Given the description of an element on the screen output the (x, y) to click on. 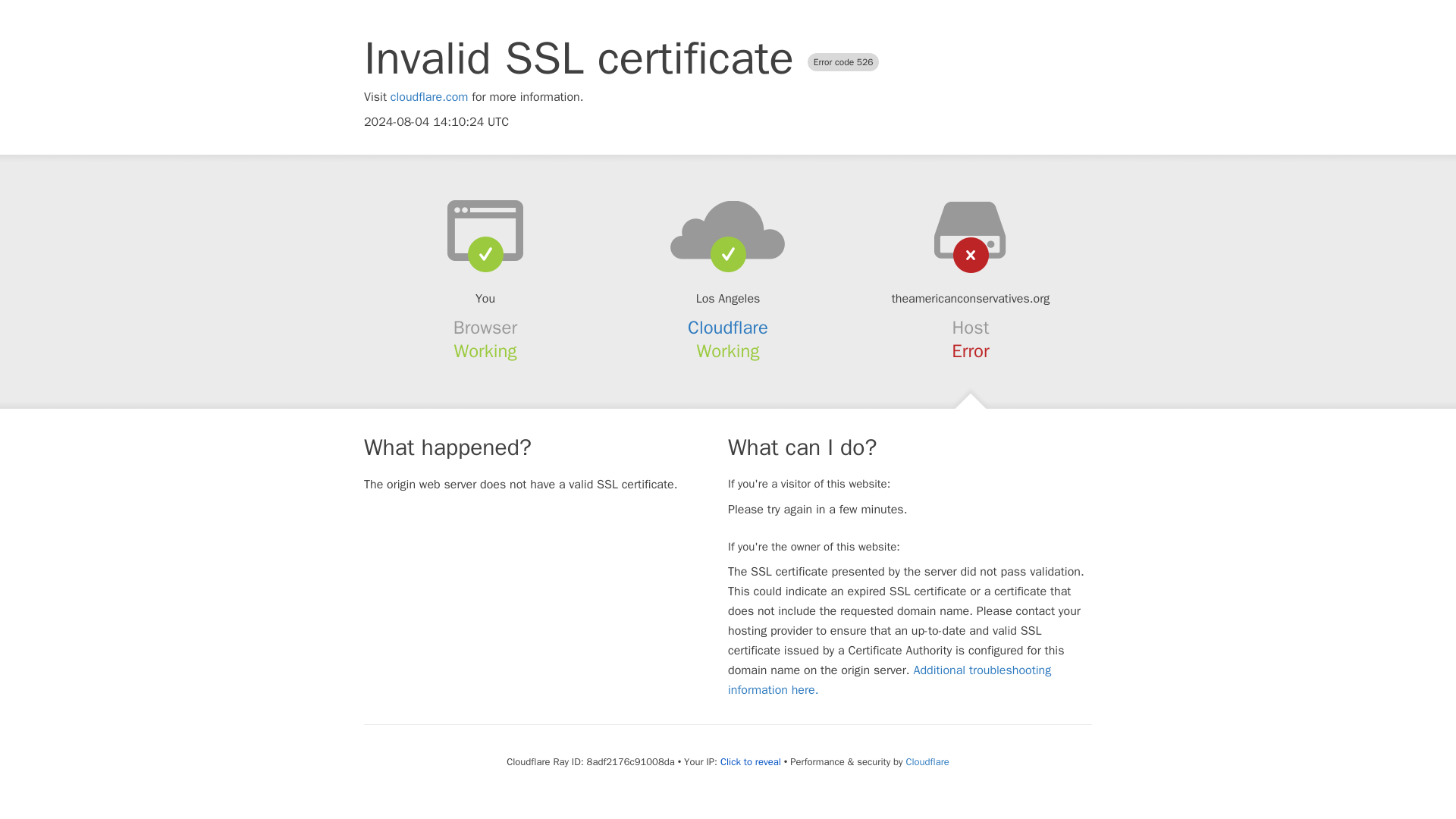
Cloudflare (924, 761)
cloudflare.com (429, 96)
Additional troubleshooting information here. (889, 679)
Click to reveal (747, 762)
Cloudflare (727, 327)
